Given the description of an element on the screen output the (x, y) to click on. 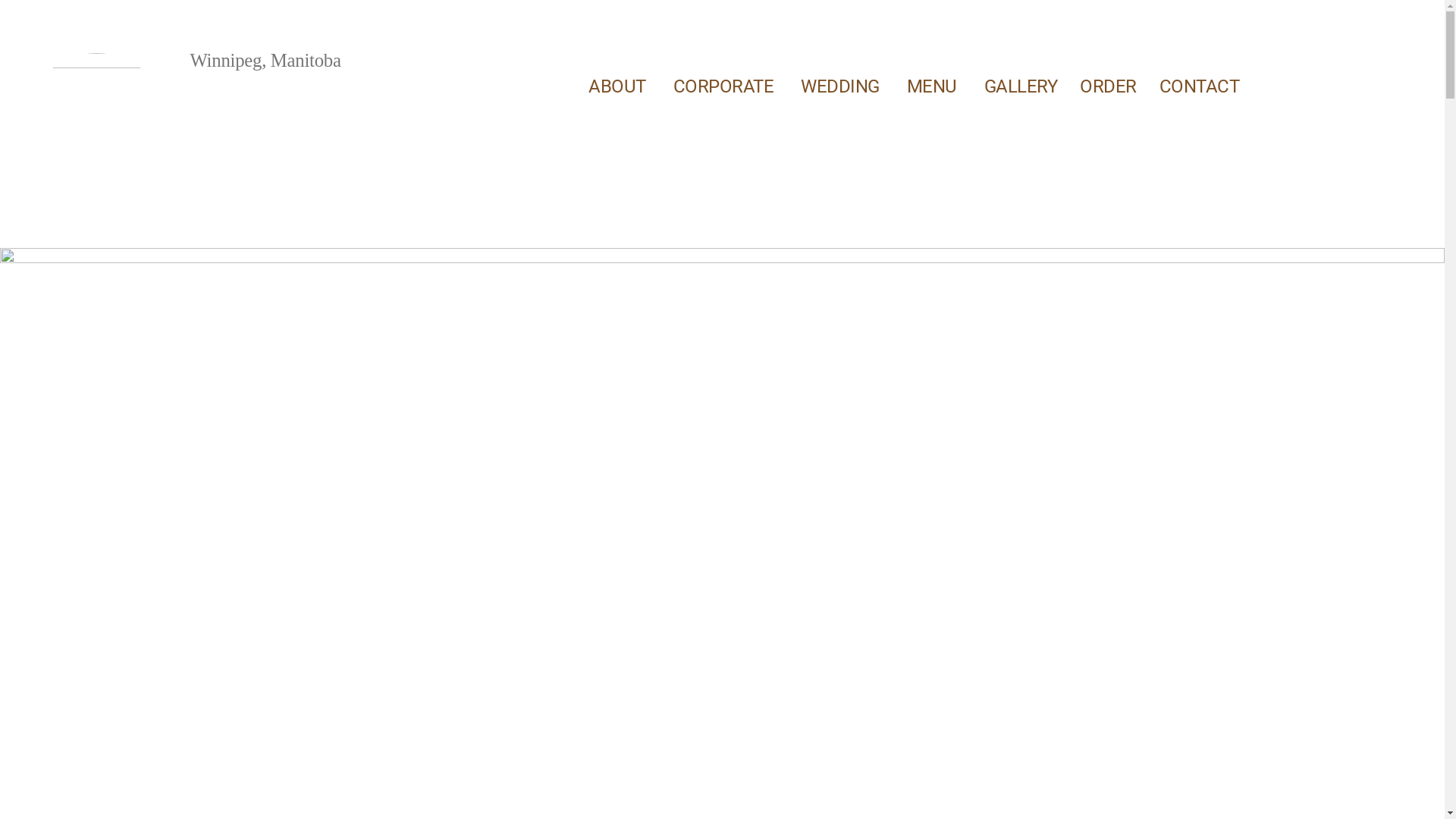
ORDER Element type: text (1108, 86)
WEDDING Element type: text (842, 86)
CORPORATE Element type: text (725, 86)
GALLERY Element type: text (1020, 86)
ABOUT Element type: text (619, 86)
MENU Element type: text (934, 86)
CONTACT Element type: text (1199, 86)
